Given the description of an element on the screen output the (x, y) to click on. 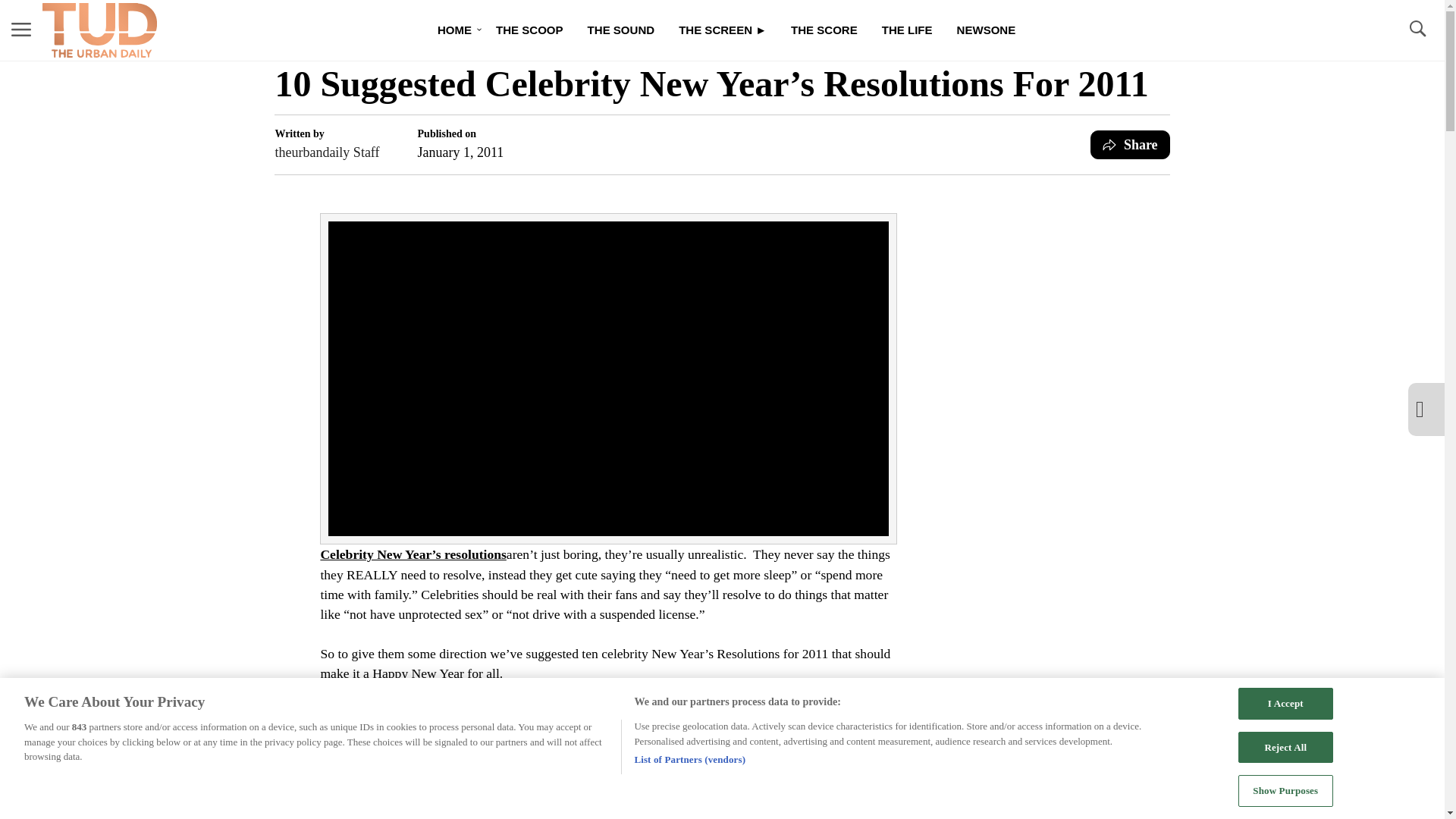
MENU (20, 30)
THE SOUND (620, 30)
faked out the fans in 2009 (759, 751)
THE LIFE (906, 30)
THE SCORE (823, 30)
Share (1130, 144)
THE SCOOP (529, 30)
MENU (20, 29)
theurbandaily Staff (326, 151)
TOGGLE SEARCH (1417, 30)
TOGGLE SEARCH (1417, 28)
HOME (454, 30)
NEWSONE (985, 30)
